Given the description of an element on the screen output the (x, y) to click on. 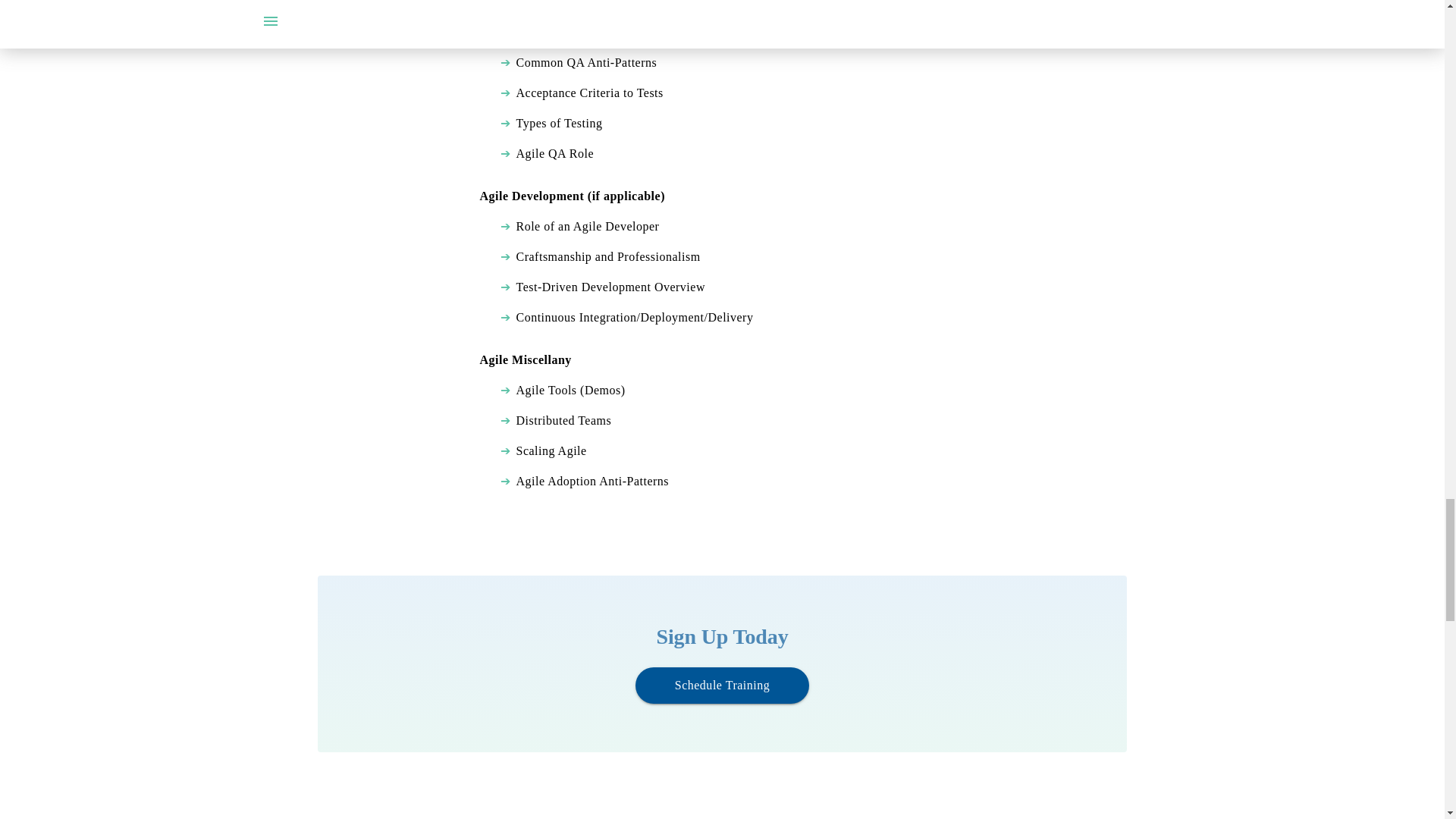
Schedule Training (721, 685)
Schedule Training (721, 684)
